Given the description of an element on the screen output the (x, y) to click on. 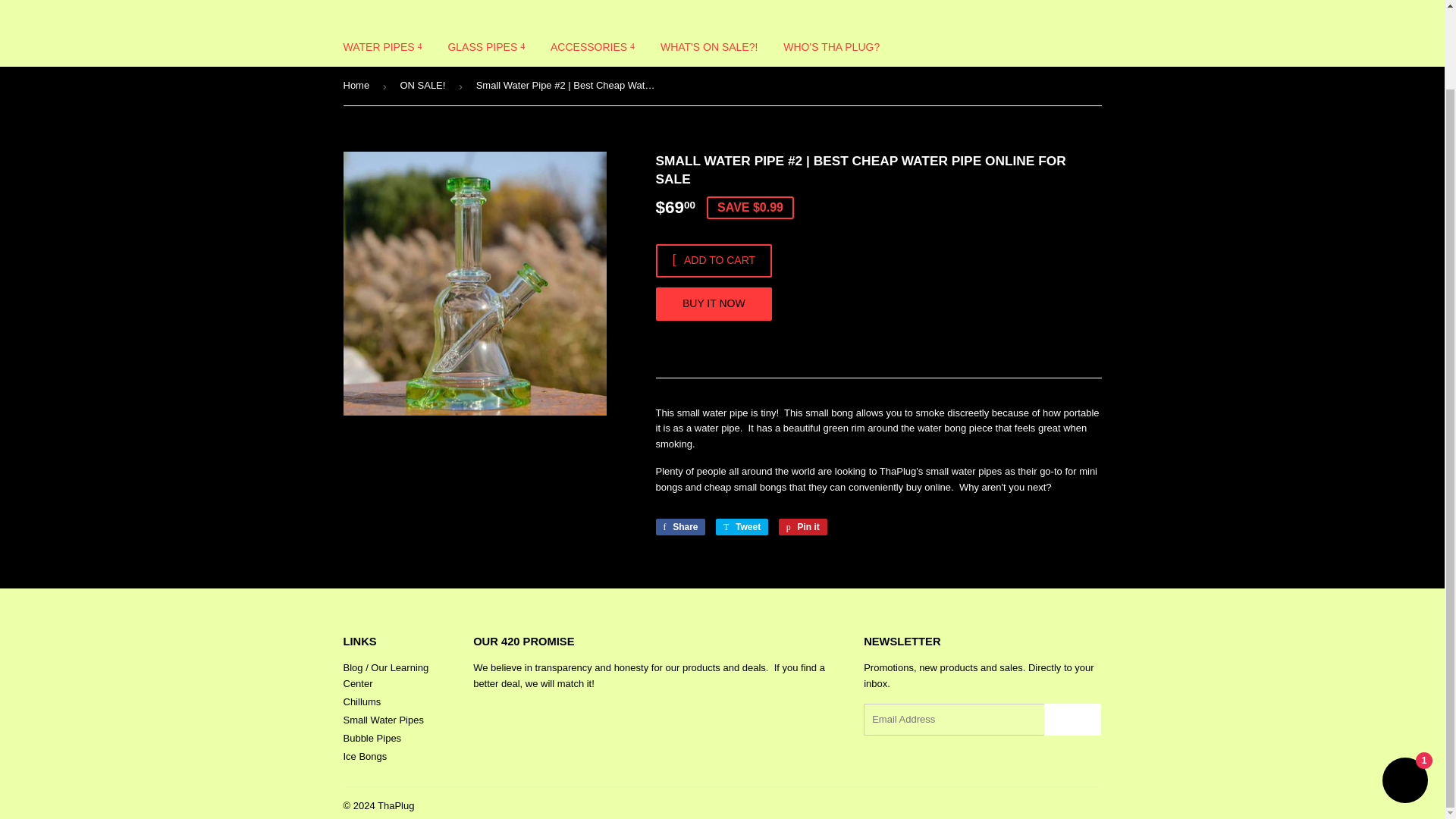
Share on Facebook (679, 526)
Shopify online store chat (1404, 693)
Tweet on Twitter (742, 526)
Pin on Pinterest (802, 526)
WATER PIPES (382, 46)
